Given the description of an element on the screen output the (x, y) to click on. 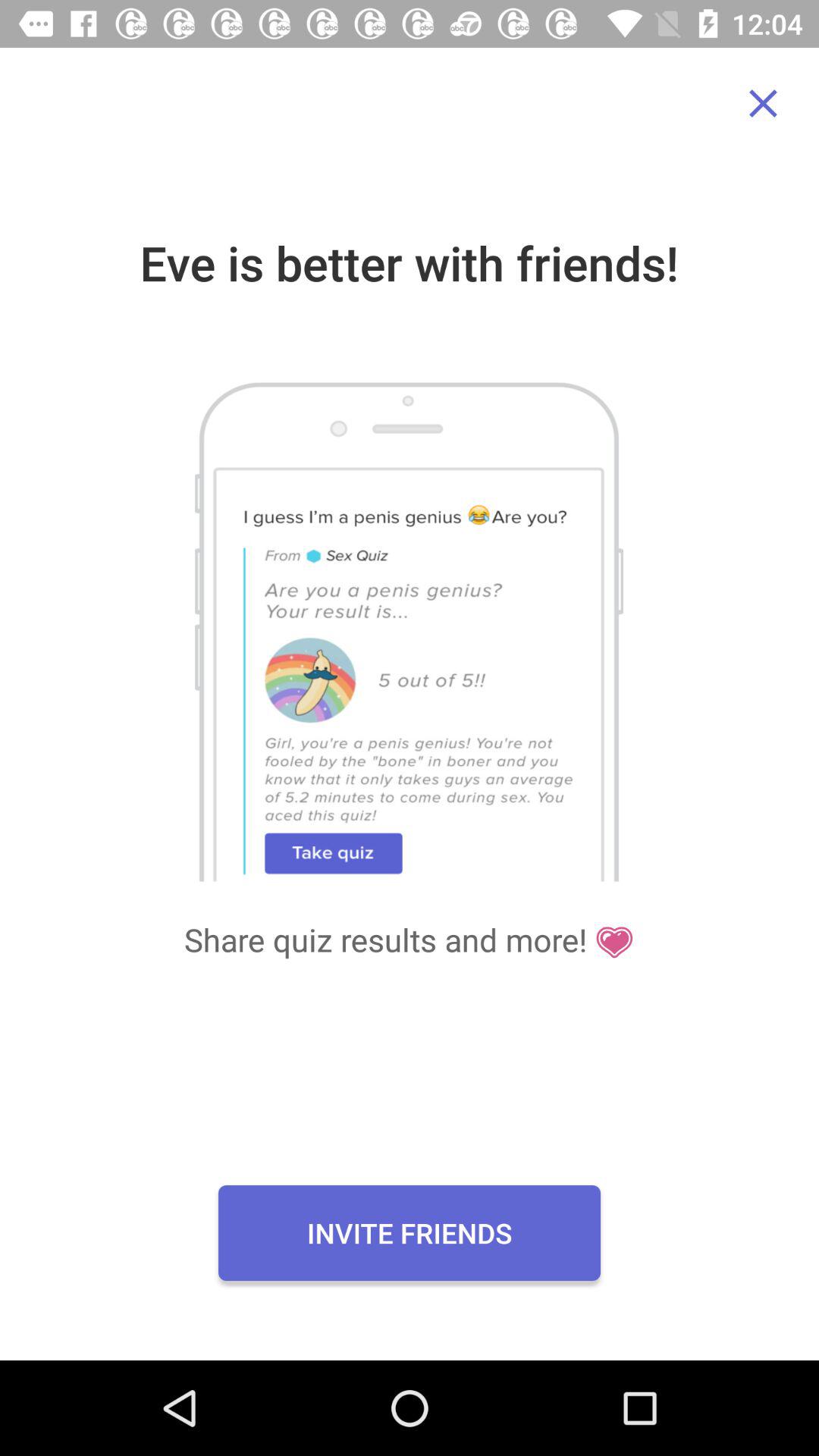
jump until the invite friends icon (409, 1232)
